Given the description of an element on the screen output the (x, y) to click on. 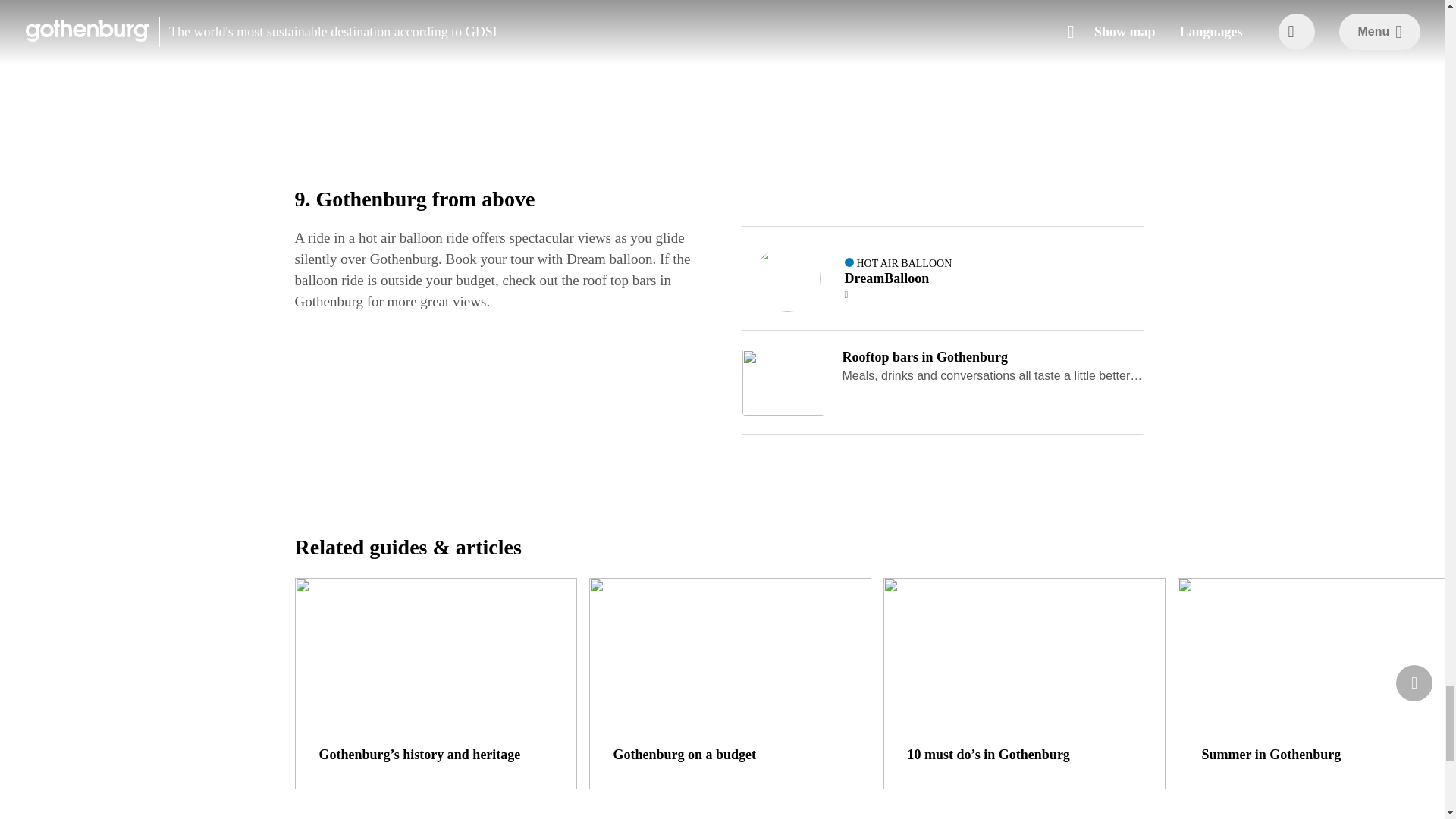
Gothenburg on a budget (729, 683)
